Given the description of an element on the screen output the (x, y) to click on. 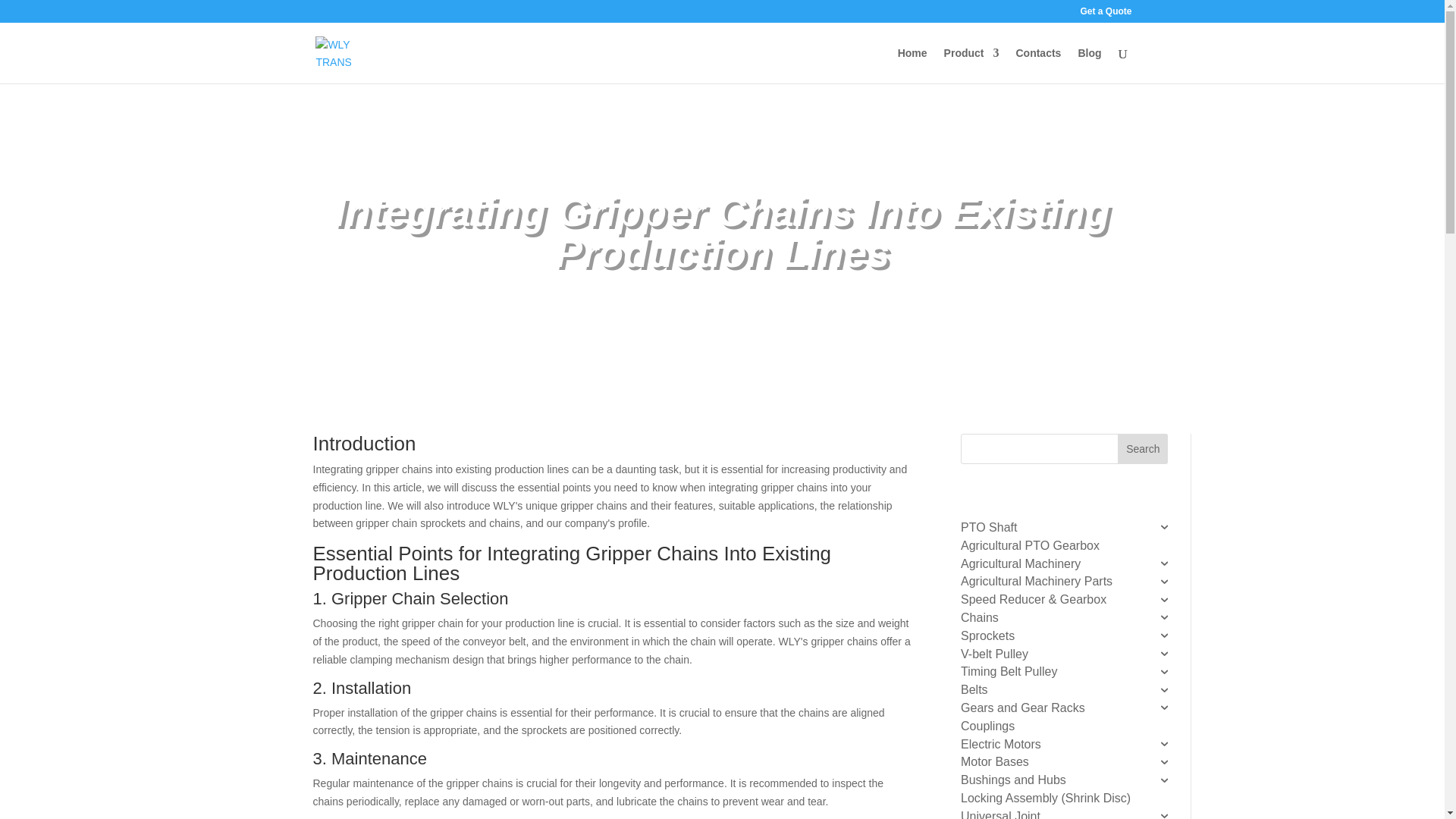
PTO Shaft (1060, 527)
Contacts (1037, 65)
Product (970, 65)
Search (1142, 449)
Search (1142, 449)
Get a Quote (1105, 14)
